Given the description of an element on the screen output the (x, y) to click on. 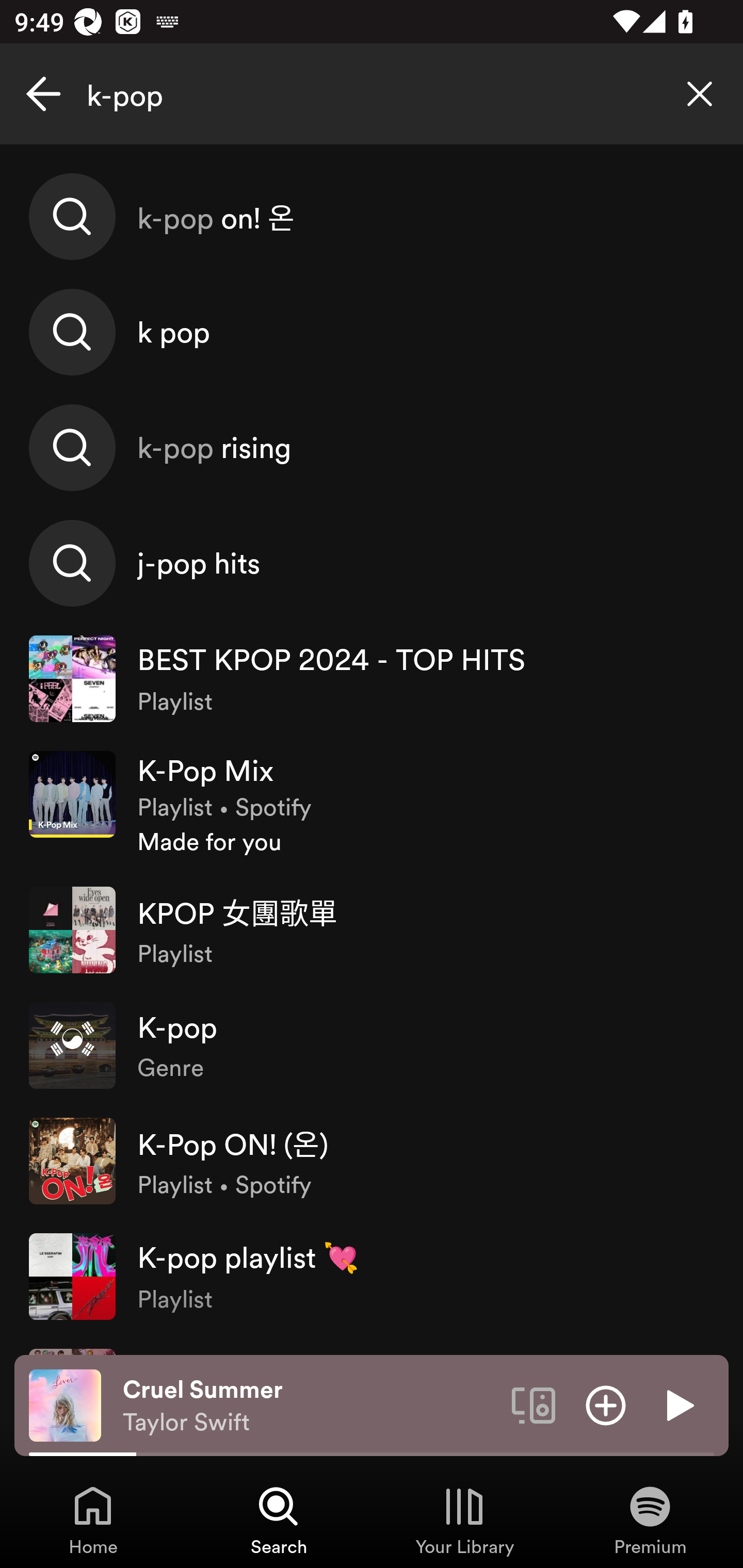
k-pop (371, 93)
Cancel (43, 93)
Clear search query (699, 93)
k-pop on! 온 (371, 216)
k pop (371, 332)
k-pop rising (371, 447)
j-pop hits (371, 562)
BEST KPOP 2024 - TOP HITS Playlist (371, 678)
K-Pop Mix Playlist • Spotify Made for you (371, 803)
KPOP 女團歌單 Playlist (371, 929)
K-pop Genre (371, 1045)
K-Pop ON! (온) Playlist • Spotify (371, 1160)
K-pop playlist 💘 Playlist (371, 1276)
Cruel Summer Taylor Swift (309, 1405)
The cover art of the currently playing track (64, 1404)
Connect to a device. Opens the devices menu (533, 1404)
Add item (605, 1404)
Play (677, 1404)
Home, Tab 1 of 4 Home Home (92, 1519)
Search, Tab 2 of 4 Search Search (278, 1519)
Your Library, Tab 3 of 4 Your Library Your Library (464, 1519)
Premium, Tab 4 of 4 Premium Premium (650, 1519)
